Given the description of an element on the screen output the (x, y) to click on. 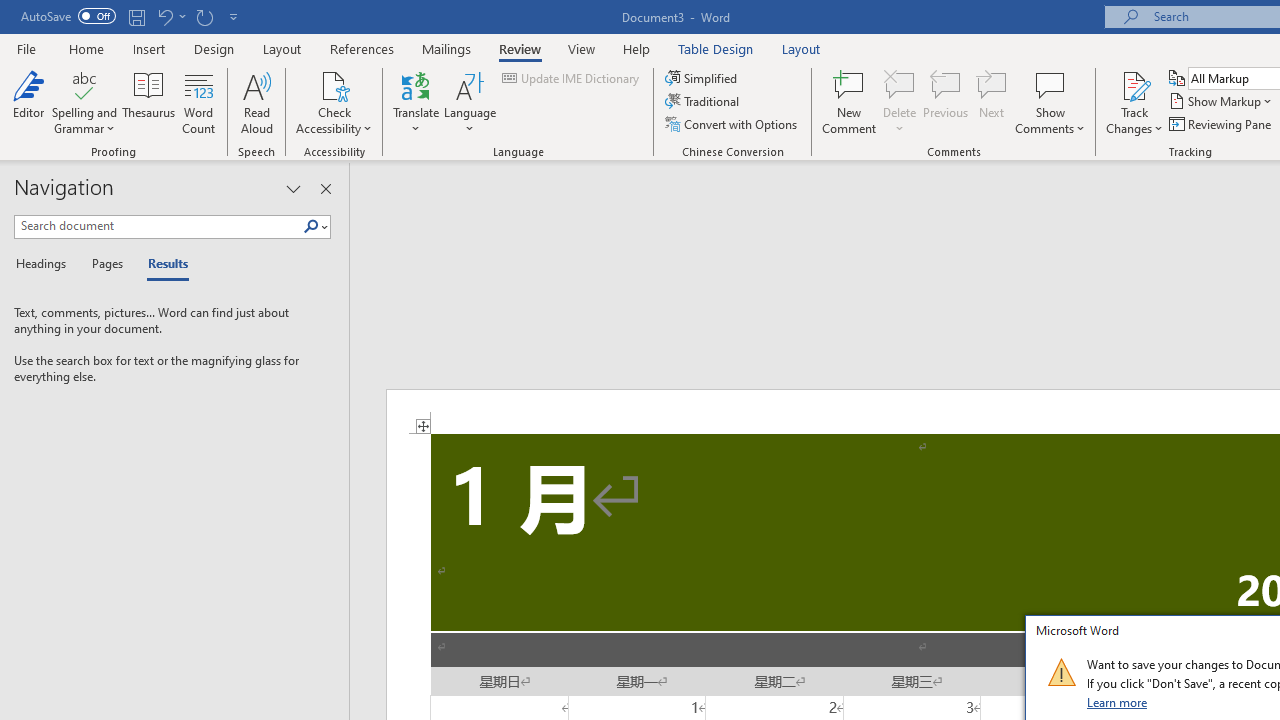
Word Count (198, 102)
Help (637, 48)
Show Markup (1222, 101)
Show Comments (1050, 102)
Close pane (325, 188)
Editor (28, 102)
Learn more (1118, 702)
Convert with Options... (732, 124)
Simplified (702, 78)
Previous (946, 102)
Spelling and Grammar (84, 102)
Track Changes (1134, 102)
Customize Quick Access Toolbar (234, 15)
